Given the description of an element on the screen output the (x, y) to click on. 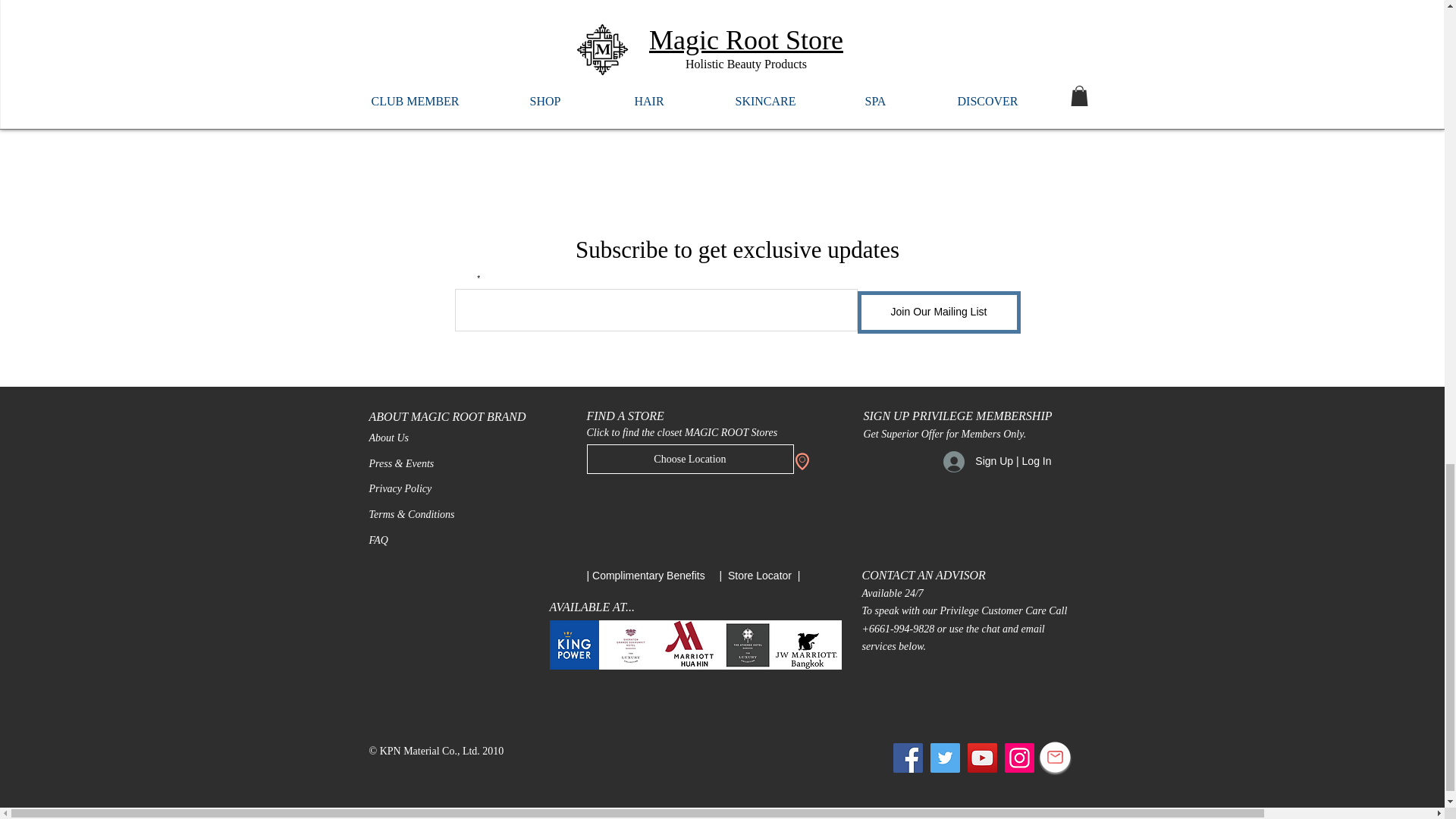
About Us (388, 437)
Privacy Policy (399, 488)
Do Not Sell My Personal Information (697, 655)
Choose Location (689, 459)
Join Our Mailing List (938, 312)
